Given the description of an element on the screen output the (x, y) to click on. 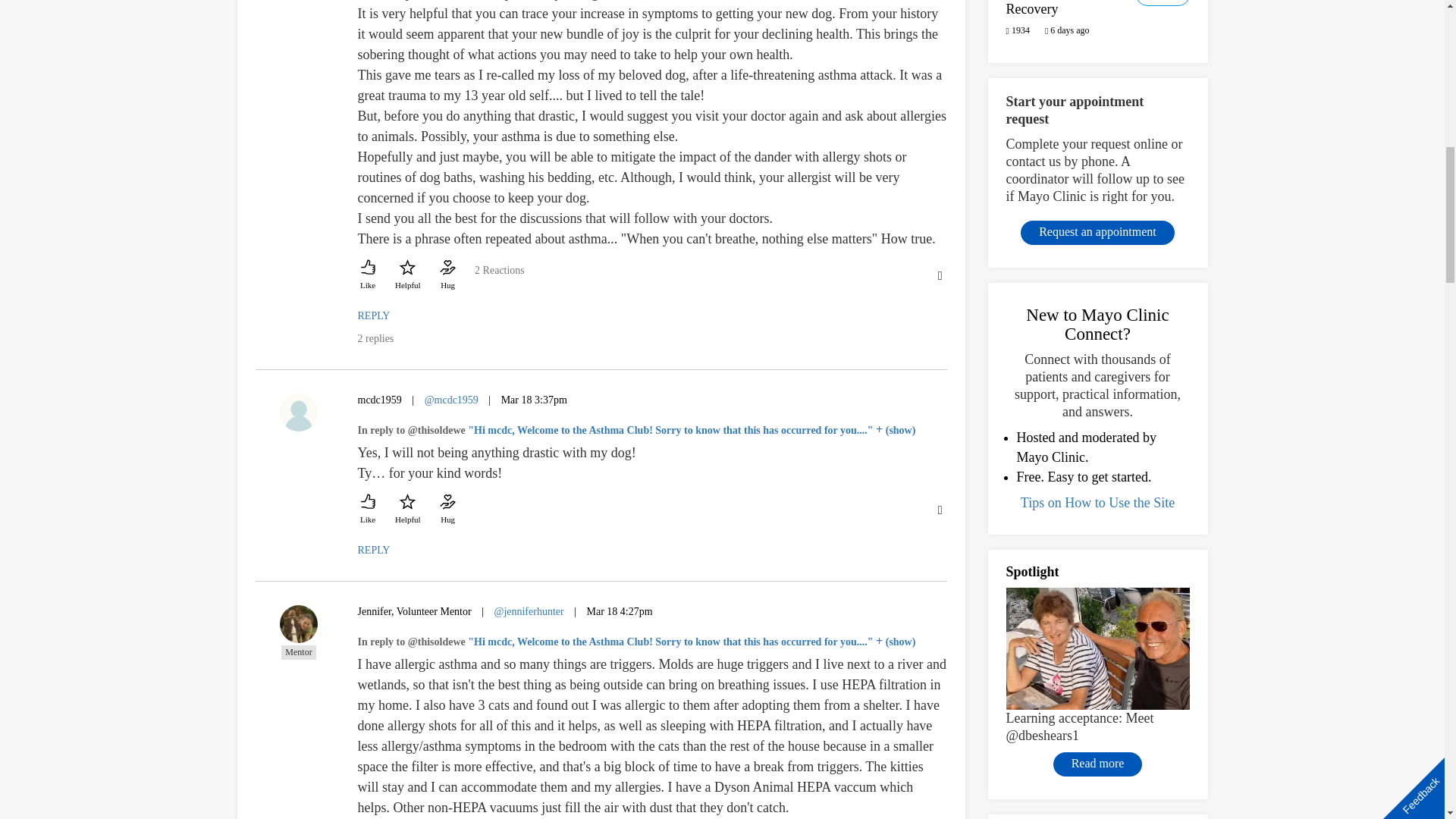
2 Reactions (499, 277)
See who reacted to this comment (499, 277)
REPLY (374, 315)
